Given the description of an element on the screen output the (x, y) to click on. 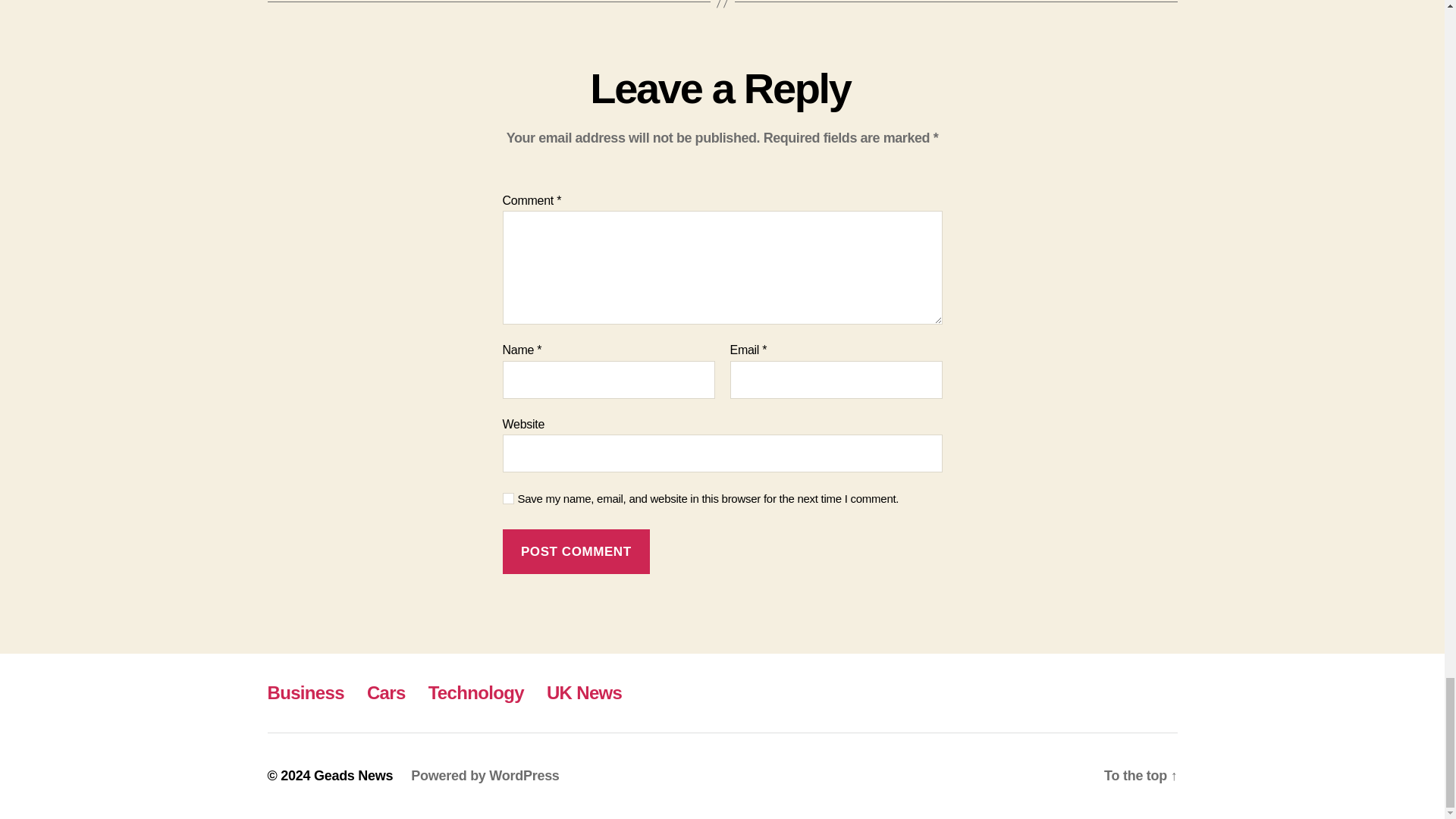
Cars (386, 692)
UK News (584, 692)
yes (507, 498)
Post Comment (575, 551)
Technology (476, 692)
Post Comment (575, 551)
Business (304, 692)
